Given the description of an element on the screen output the (x, y) to click on. 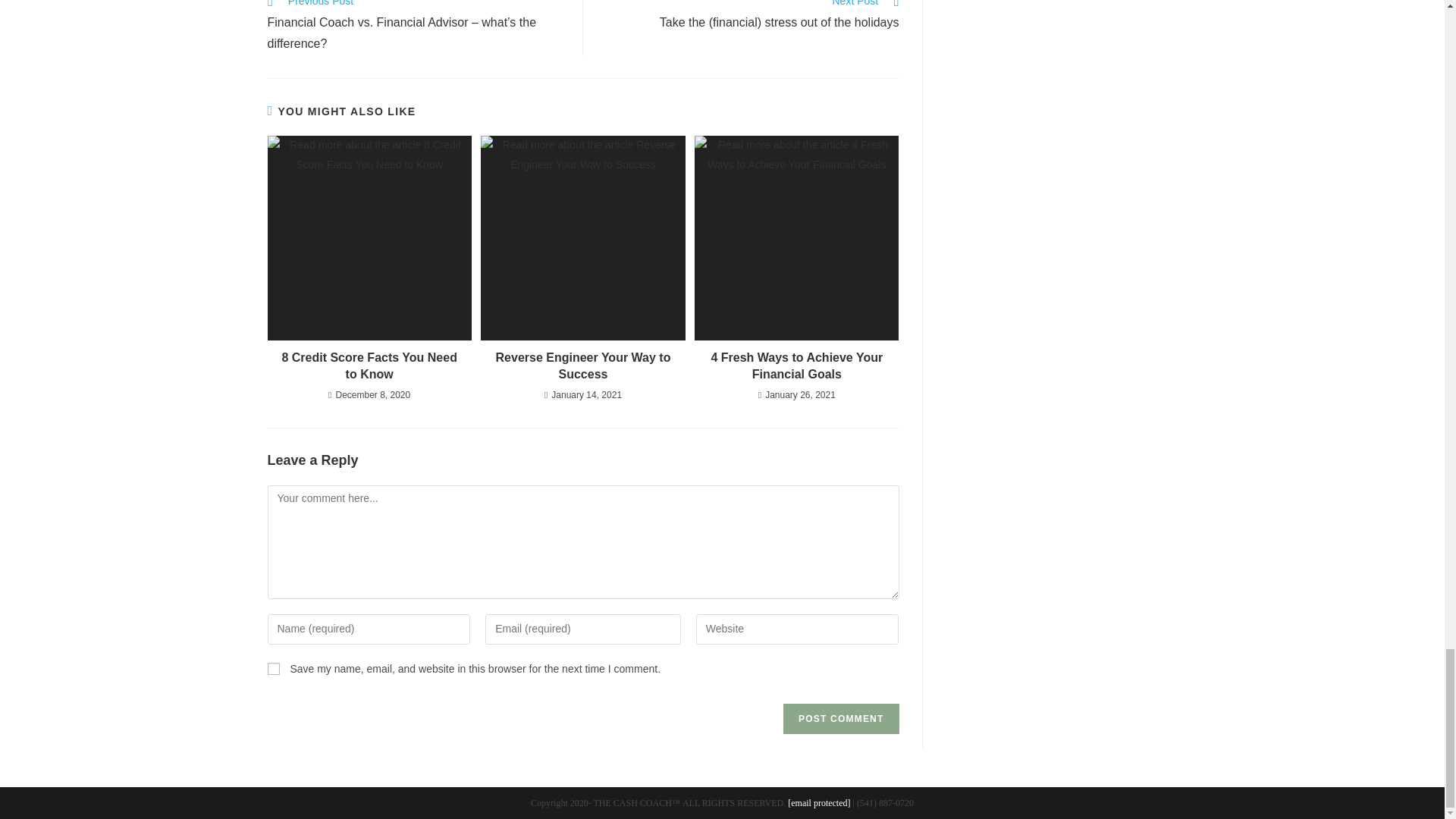
Post Comment (840, 718)
yes (272, 668)
